Given the description of an element on the screen output the (x, y) to click on. 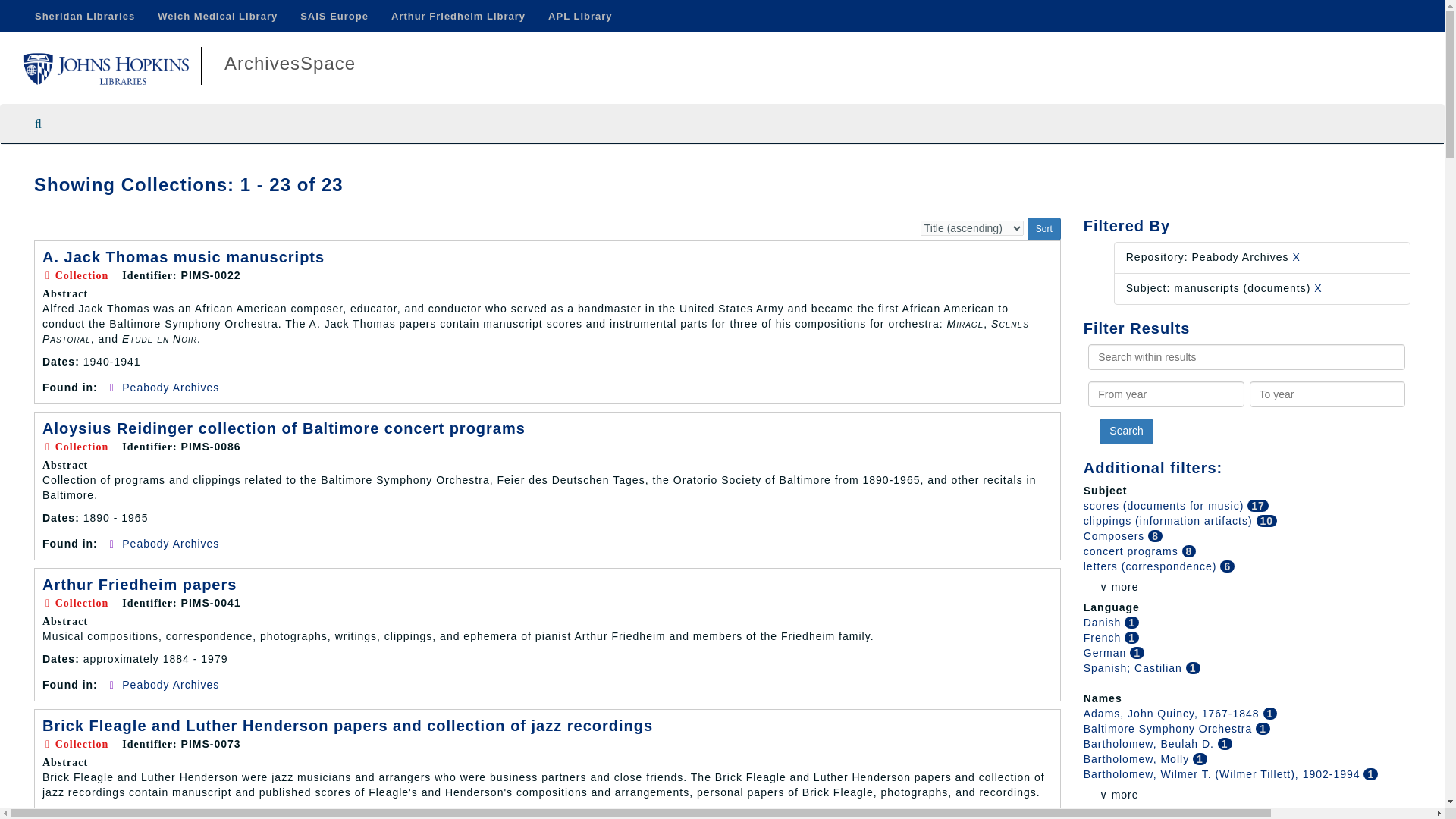
A. Jack Thomas music manuscripts (183, 256)
Filter By 'concert programs' (1132, 551)
Sort (1044, 228)
Aloysius Reidinger collection of Baltimore concert programs (283, 428)
Arthur Friedheim papers (138, 584)
APL Library (580, 15)
SAIS Europe (334, 15)
Welch Medical Library (217, 15)
Sort (1044, 228)
Sheridan Libraries (85, 15)
Peabody Archives (170, 387)
Peabody Archives (170, 684)
Search (1126, 431)
Arthur Friedheim Library (458, 15)
